Given the description of an element on the screen output the (x, y) to click on. 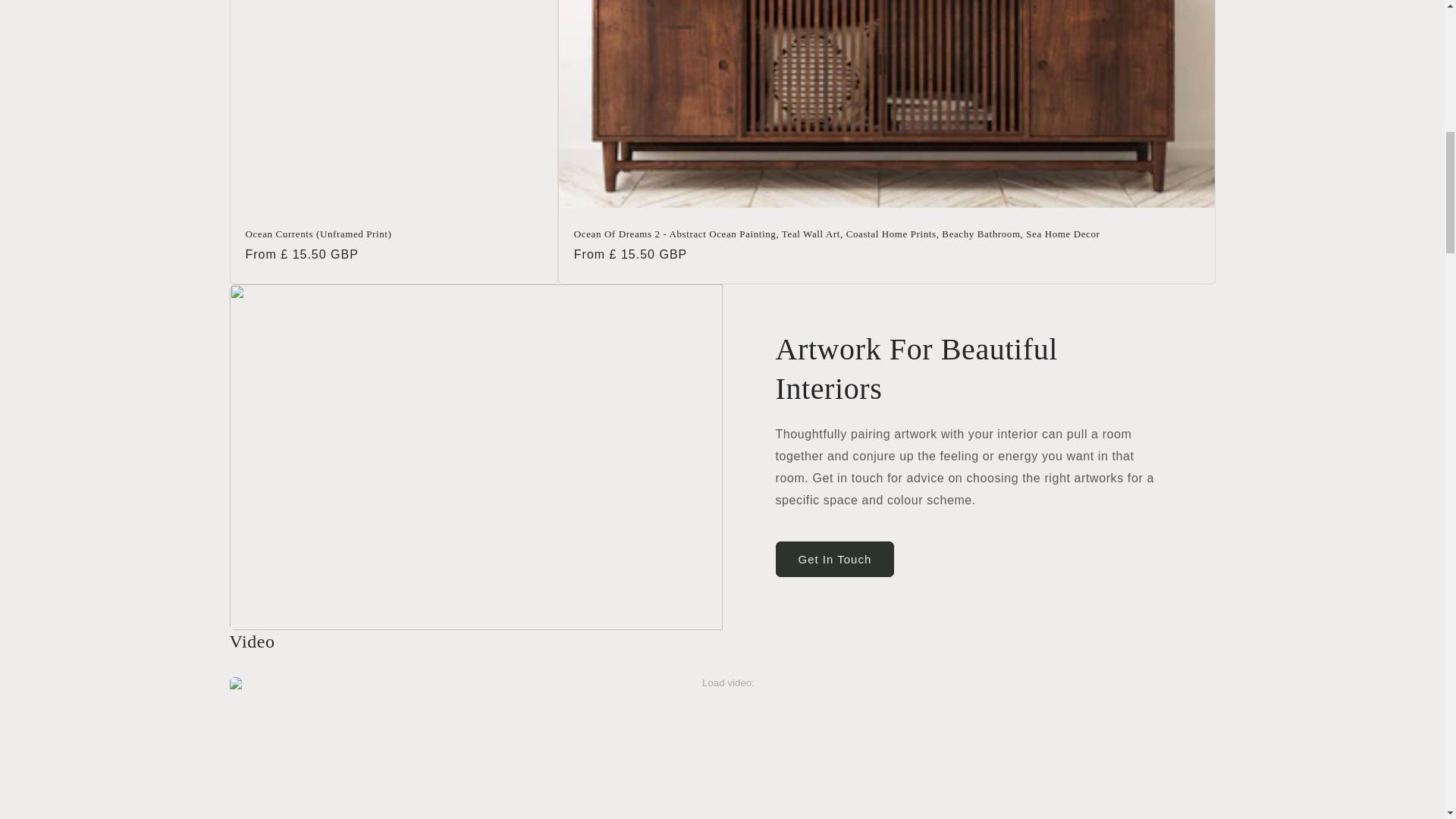
Get In Touch (833, 559)
